Given the description of an element on the screen output the (x, y) to click on. 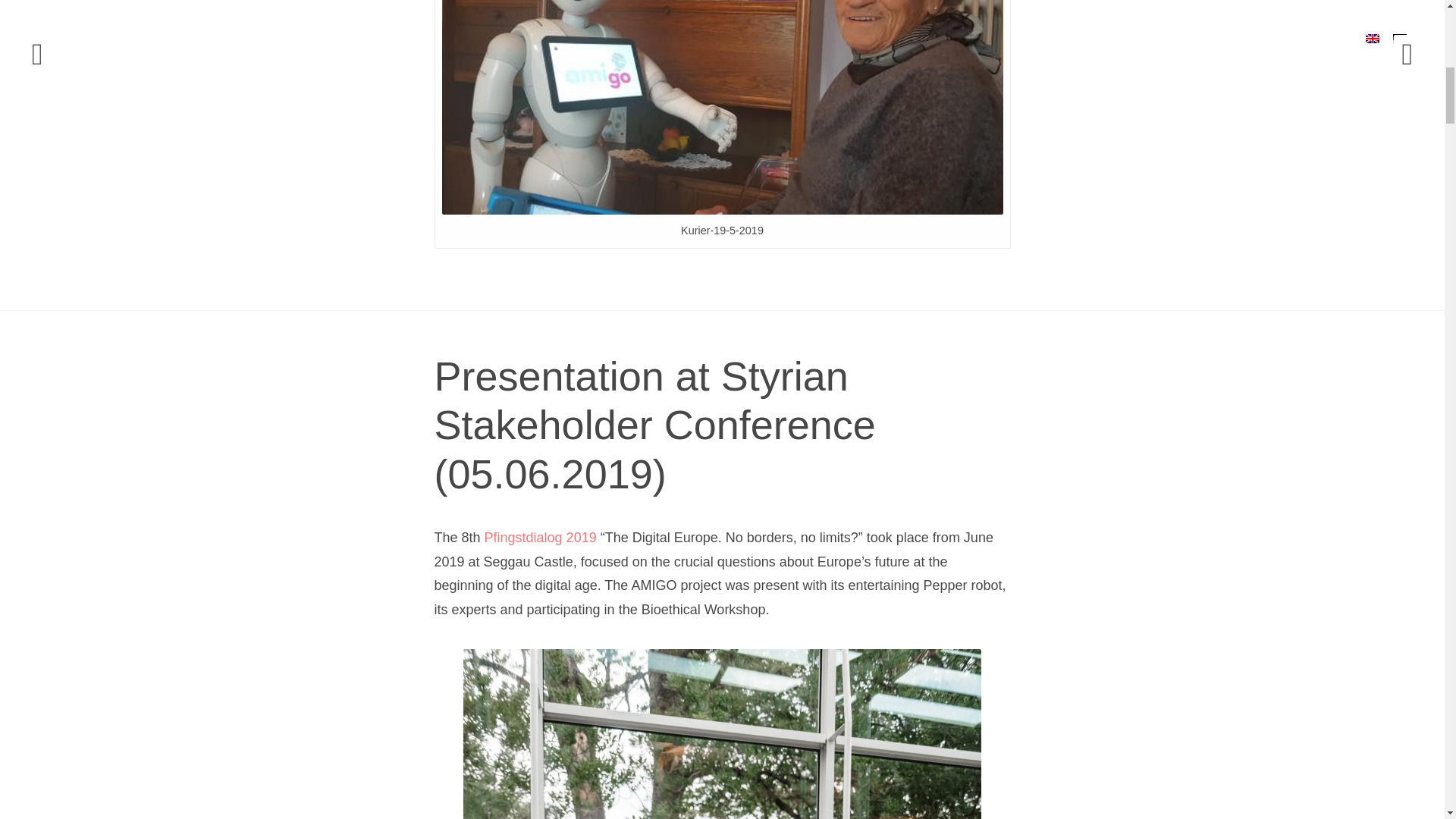
Pfingstdialog 2019 (540, 537)
